Given the description of an element on the screen output the (x, y) to click on. 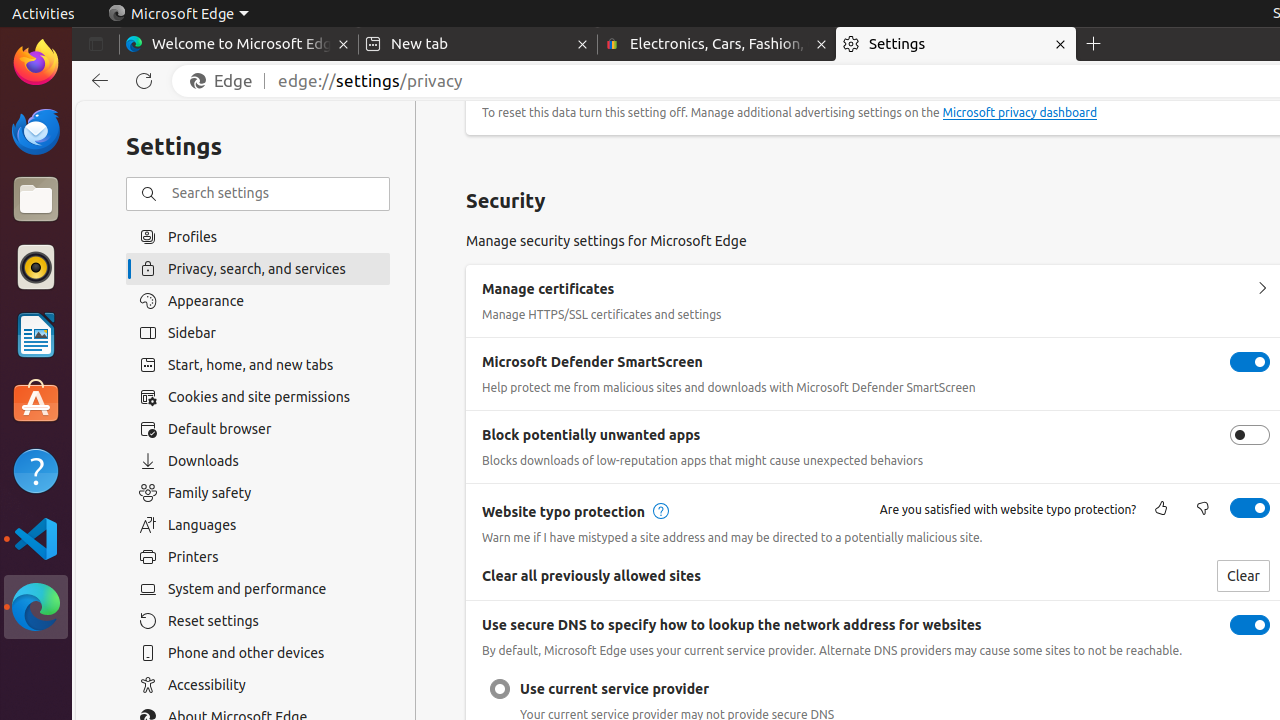
Ubuntu Software Element type: push-button (36, 402)
Downloads Element type: tree-item (258, 461)
Manage certificates Element type: push-button (1262, 289)
Default browser Element type: tree-item (258, 429)
Accessibility Element type: tree-item (258, 685)
